Given the description of an element on the screen output the (x, y) to click on. 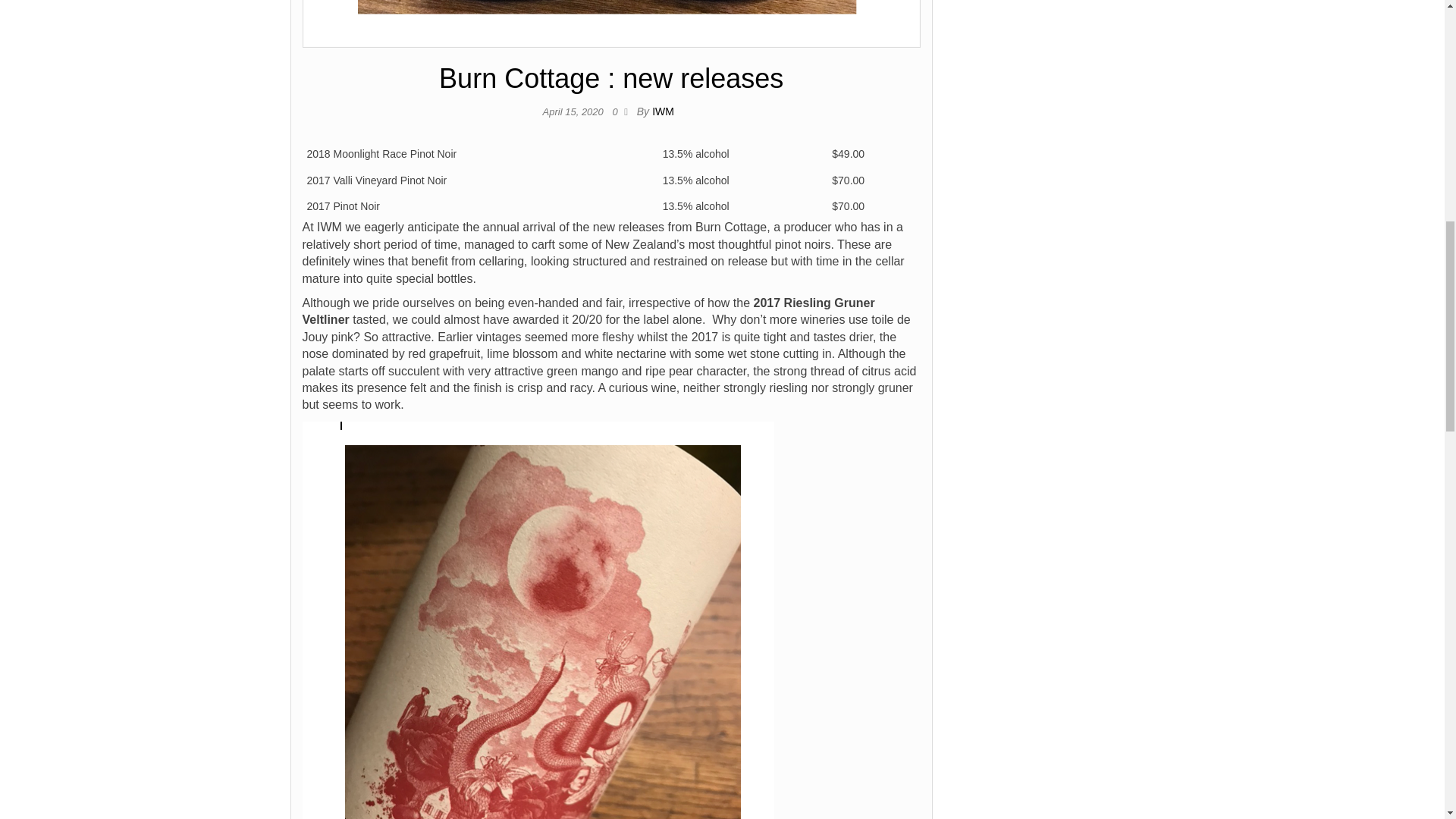
Comment on Burn Cottage : new releases (617, 111)
0 (617, 111)
IWM (663, 111)
